Given the description of an element on the screen output the (x, y) to click on. 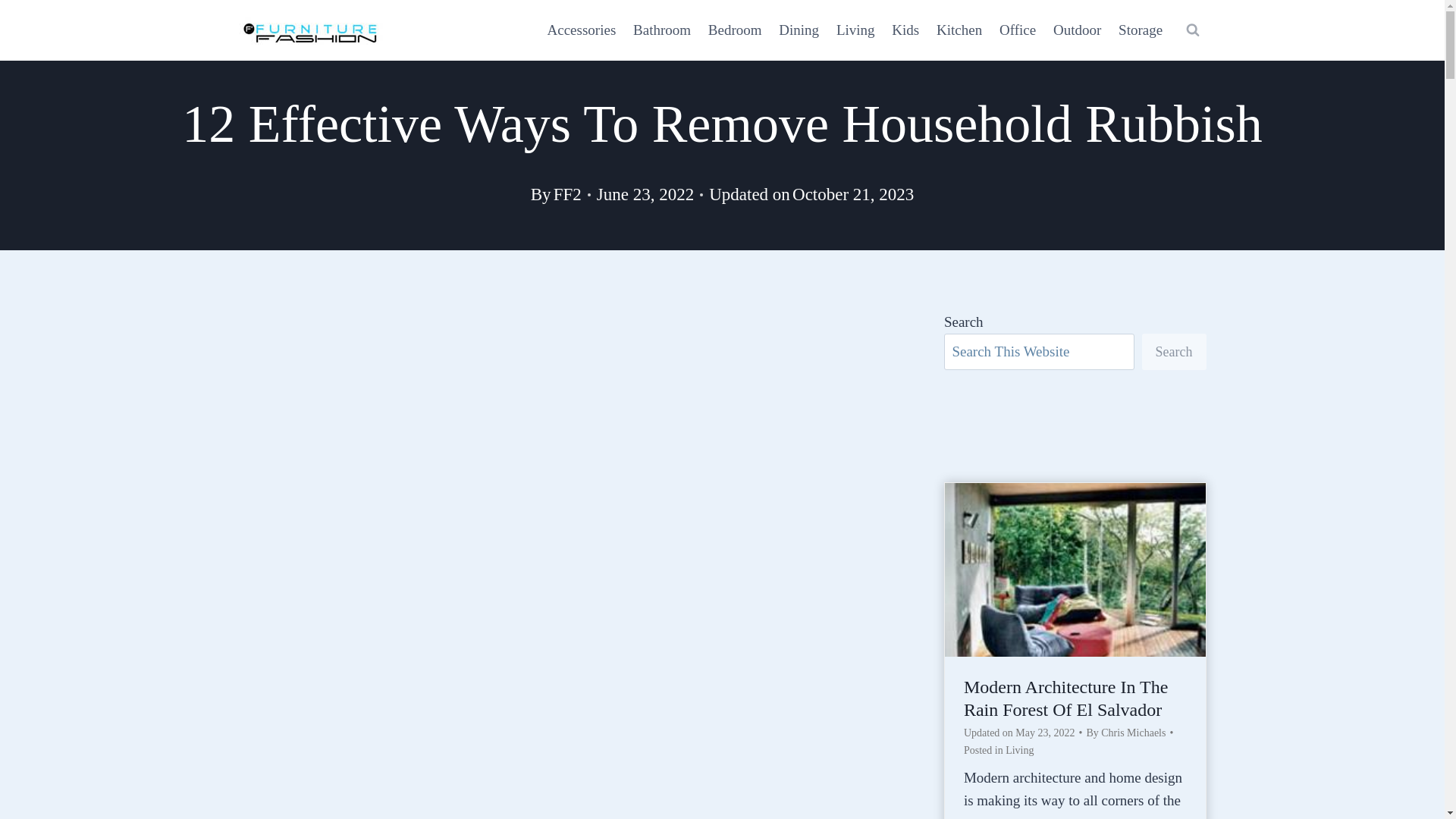
Outdoor (1077, 29)
Bedroom (734, 29)
Accessories (581, 29)
Office (1018, 29)
Kids (905, 29)
Living (855, 29)
Kitchen (959, 29)
Bathroom (662, 29)
Modern Architecture in the Rain Forest of El Salvador 2 (1074, 569)
FF2 (566, 194)
Storage (1140, 29)
Dining (799, 29)
